Given the description of an element on the screen output the (x, y) to click on. 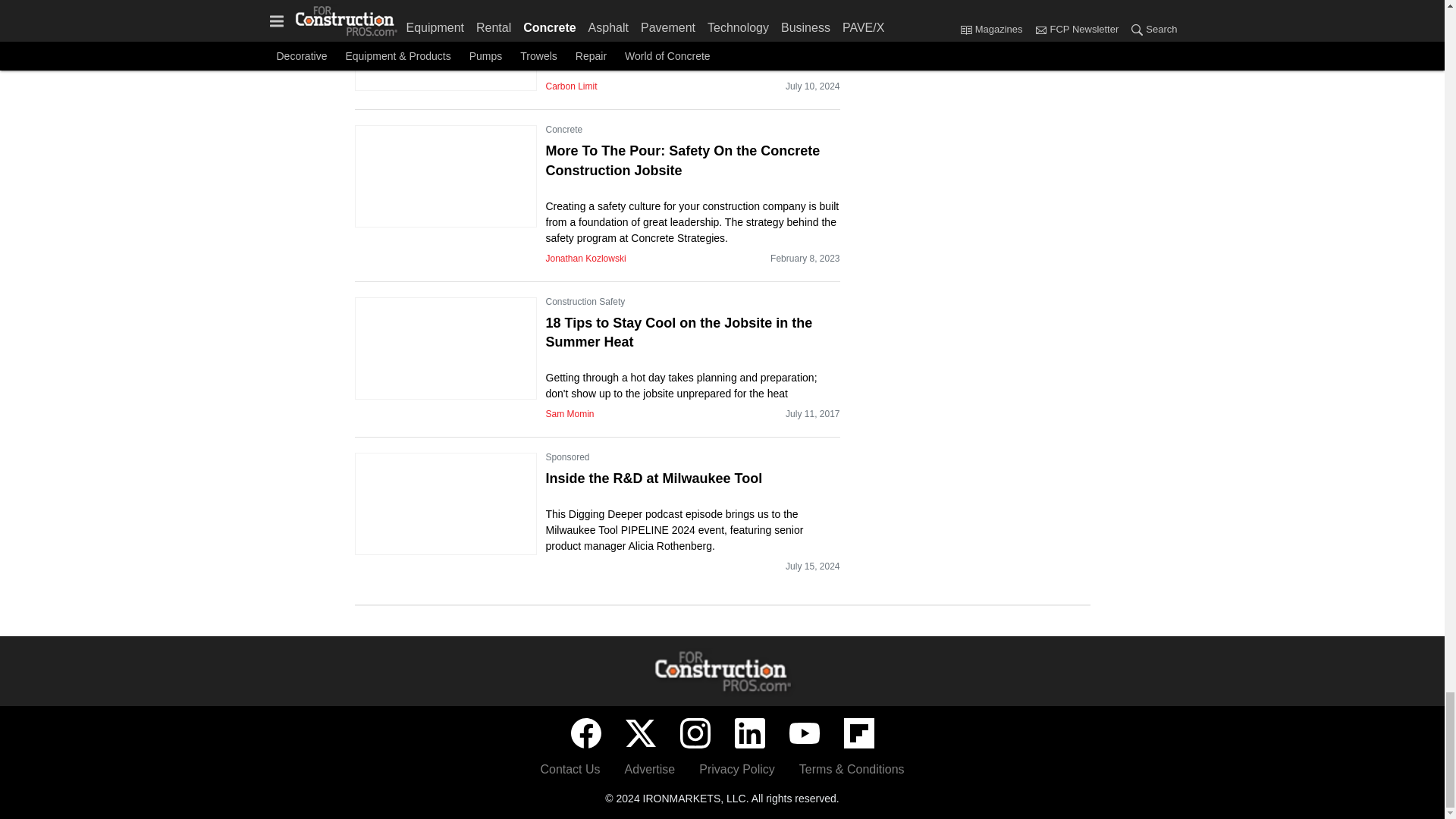
Instagram icon (694, 733)
Facebook icon (584, 733)
Flipboard icon (858, 733)
LinkedIn icon (748, 733)
Twitter X icon (639, 733)
YouTube icon (803, 733)
